Given the description of an element on the screen output the (x, y) to click on. 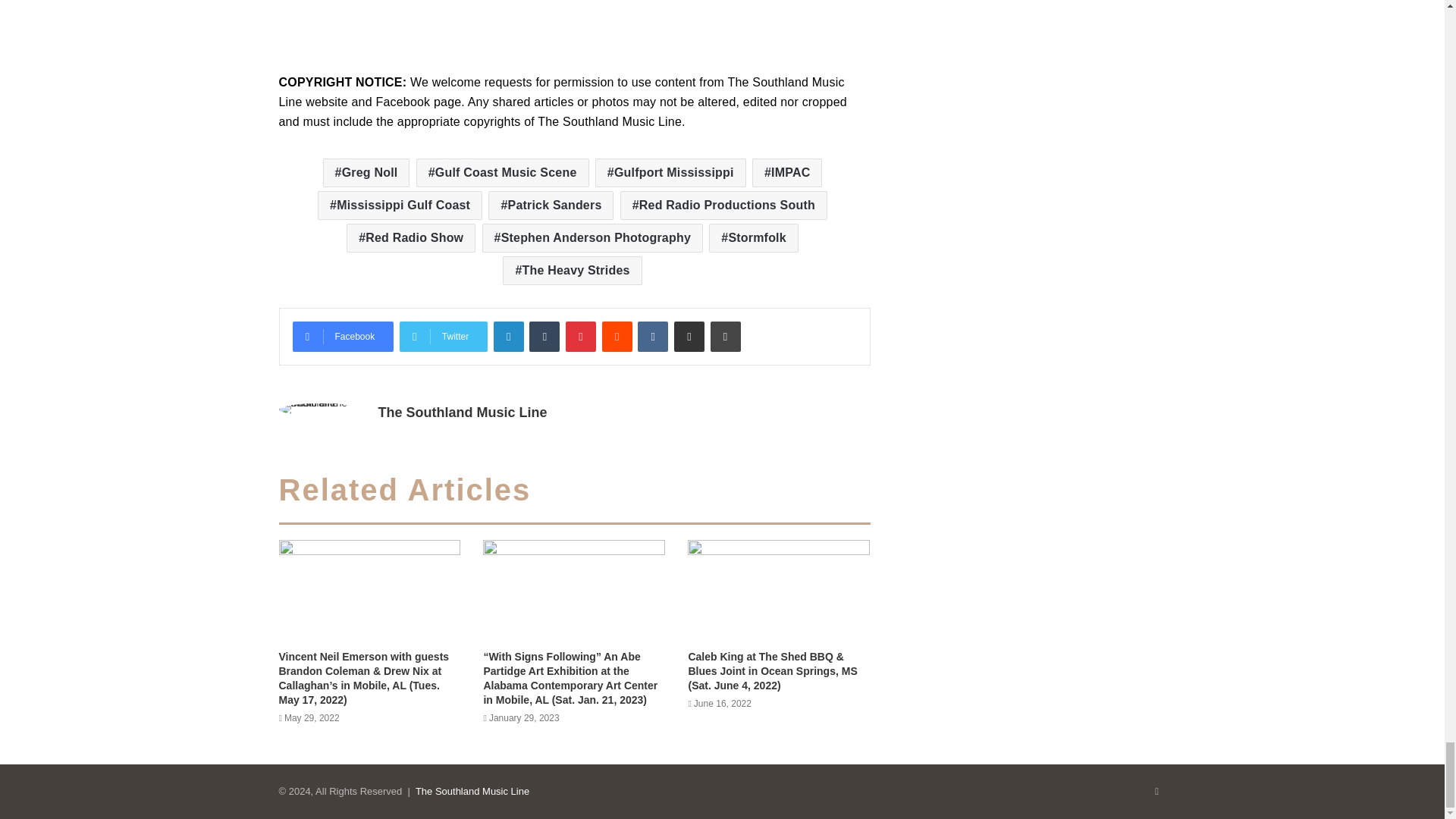
Pinterest (580, 336)
LinkedIn (508, 336)
The Heavy Strides (572, 270)
Stormfolk (753, 237)
Greg Noll (366, 172)
Twitter (442, 336)
Print (725, 336)
Stephen Anderson Photography (592, 237)
Mississippi Gulf Coast (399, 205)
Gulfport Mississippi (670, 172)
